Given the description of an element on the screen output the (x, y) to click on. 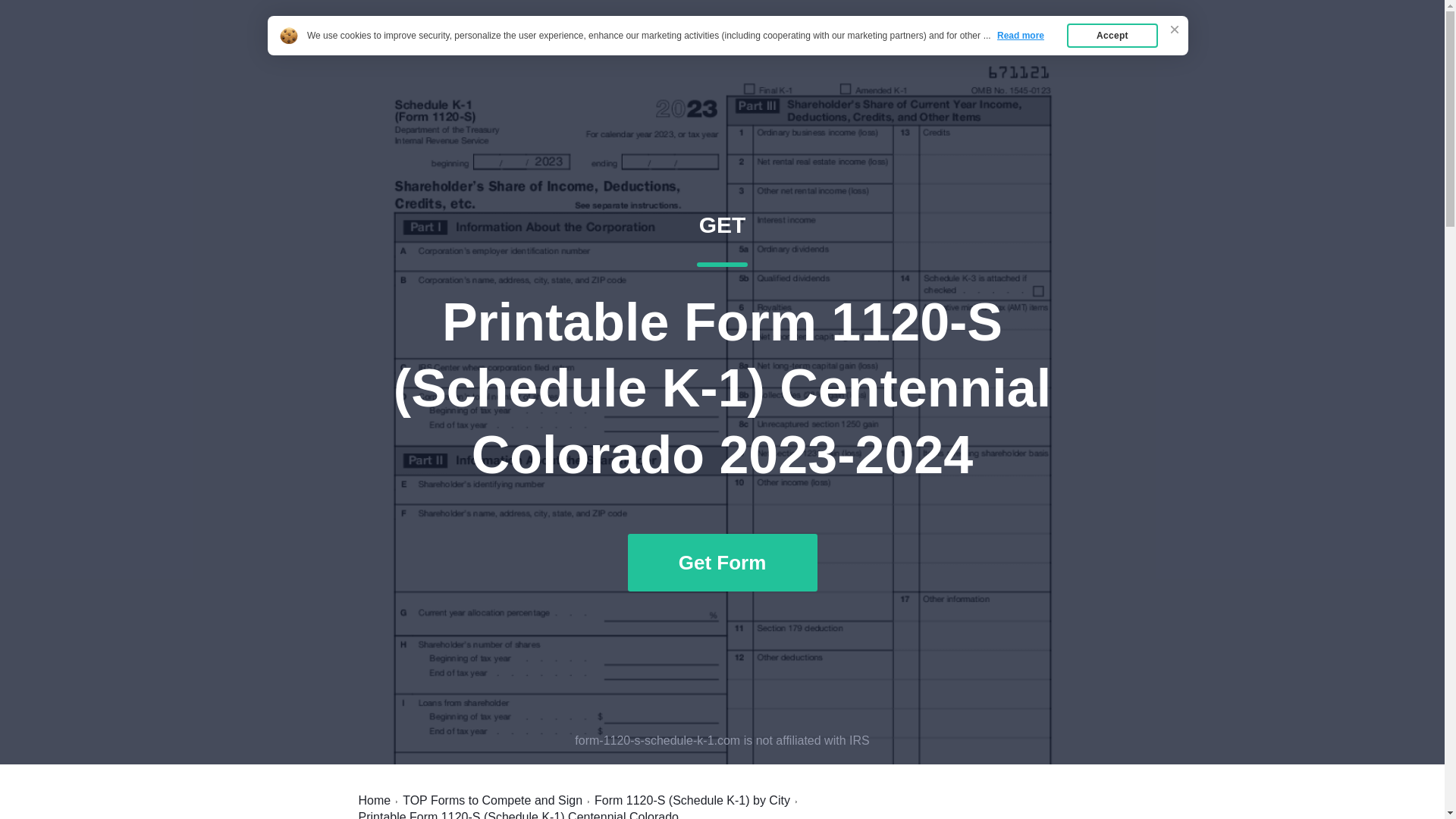
Form 1120 S Schedule K 1 (469, 46)
Home (374, 800)
Top Forms (1062, 47)
TOP Forms to Compete and Sign (492, 800)
Home (987, 47)
